Given the description of an element on the screen output the (x, y) to click on. 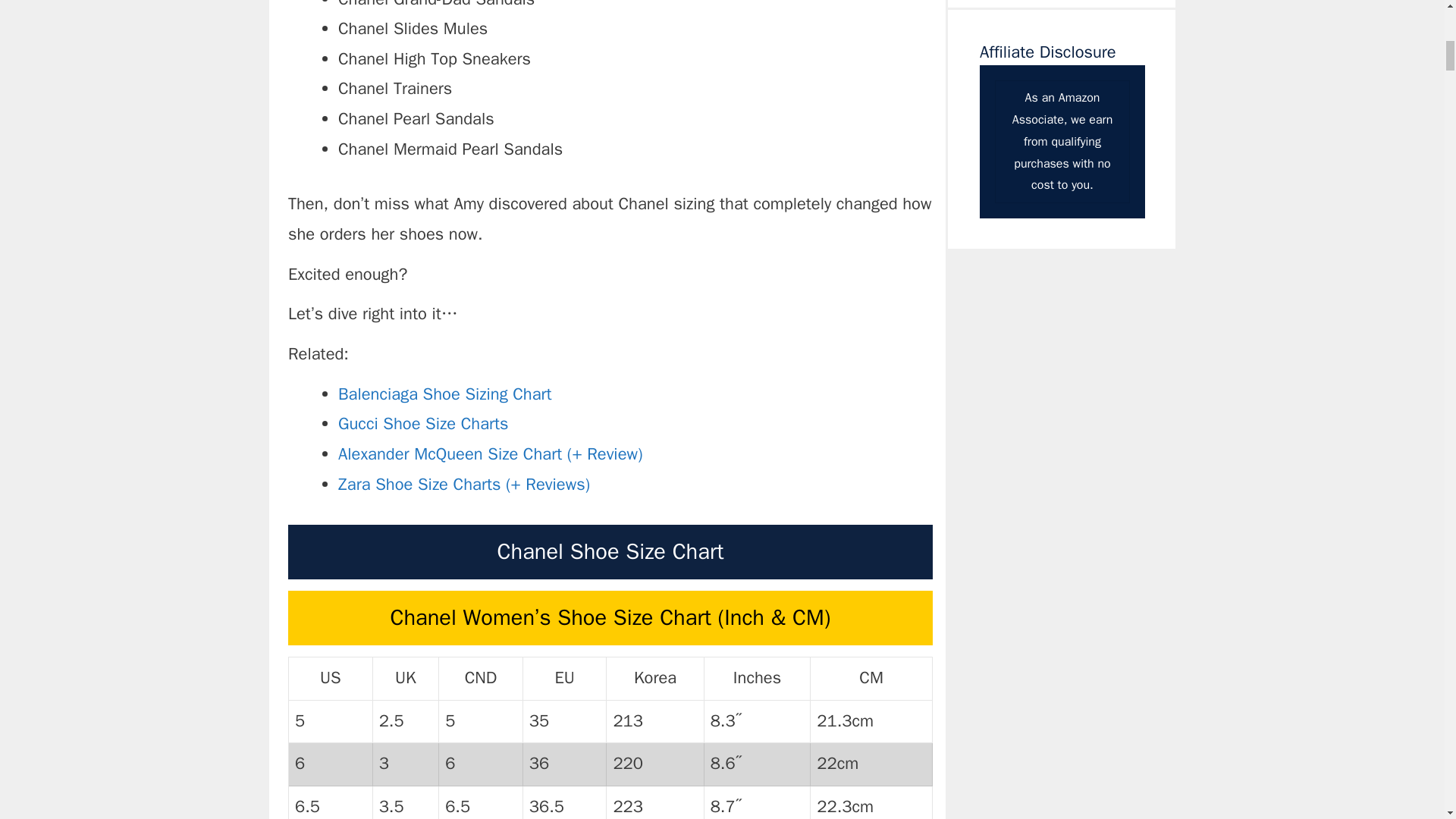
Balenciaga Shoe Sizing Chart (444, 394)
Gucci Shoe Size Charts (422, 423)
